Given the description of an element on the screen output the (x, y) to click on. 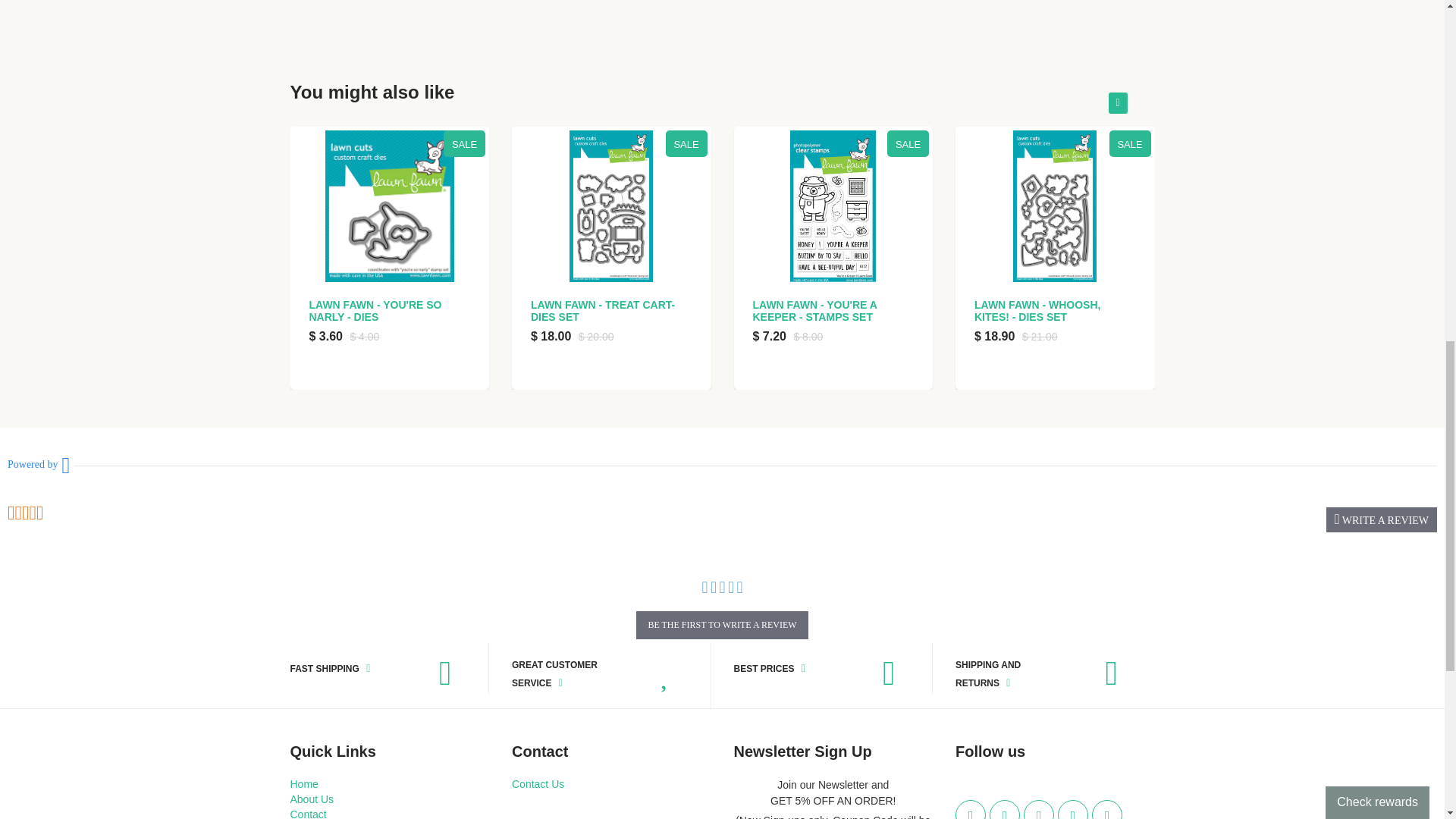
Facebook (1005, 809)
YouTube (1107, 809)
Twitter (970, 809)
Instagram (1072, 809)
Pinterest (1038, 809)
